Given the description of an element on the screen output the (x, y) to click on. 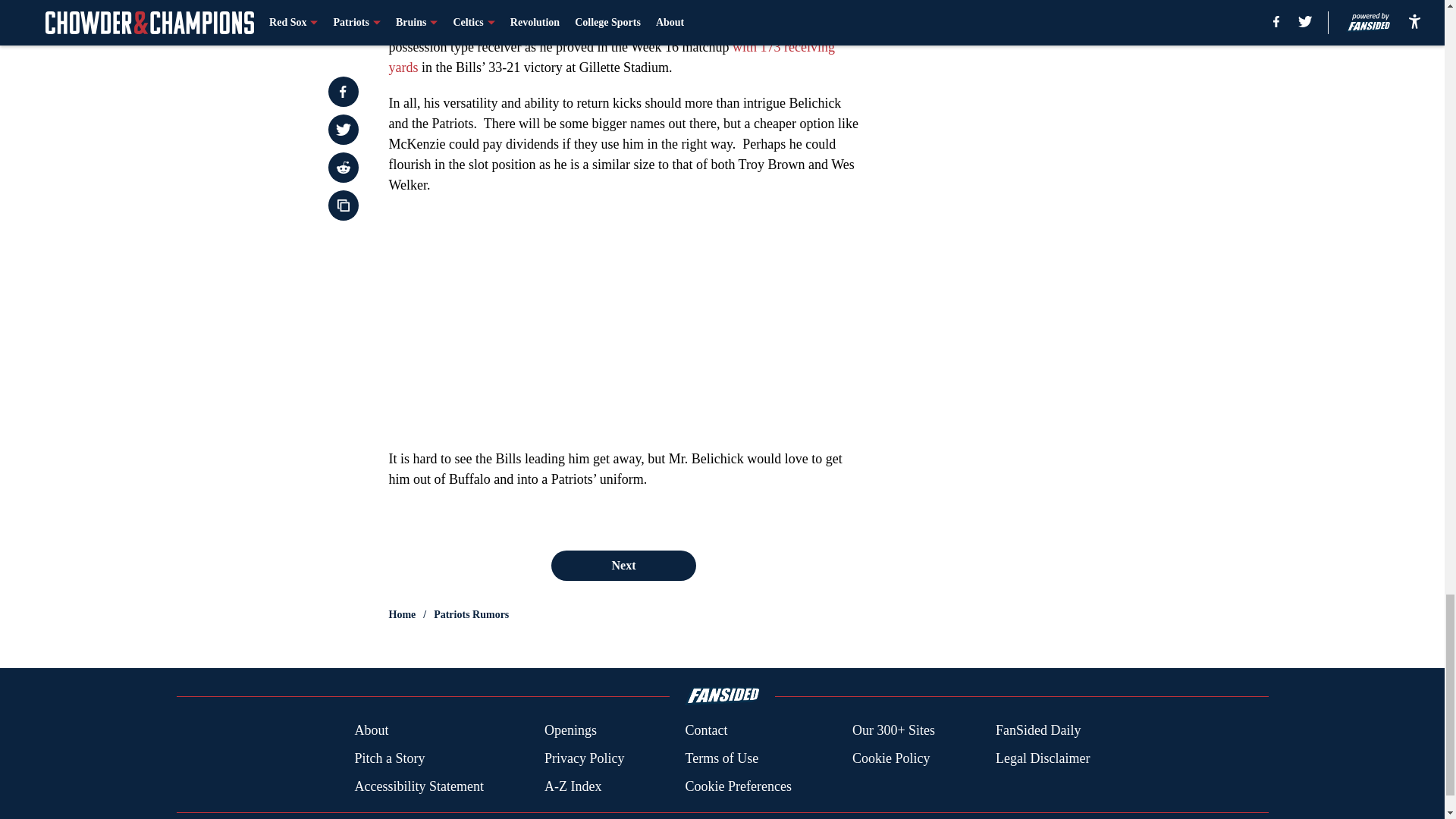
Next (622, 565)
with 173 receiving yards (611, 57)
Home (401, 614)
Patriots Rumors (470, 614)
